Given the description of an element on the screen output the (x, y) to click on. 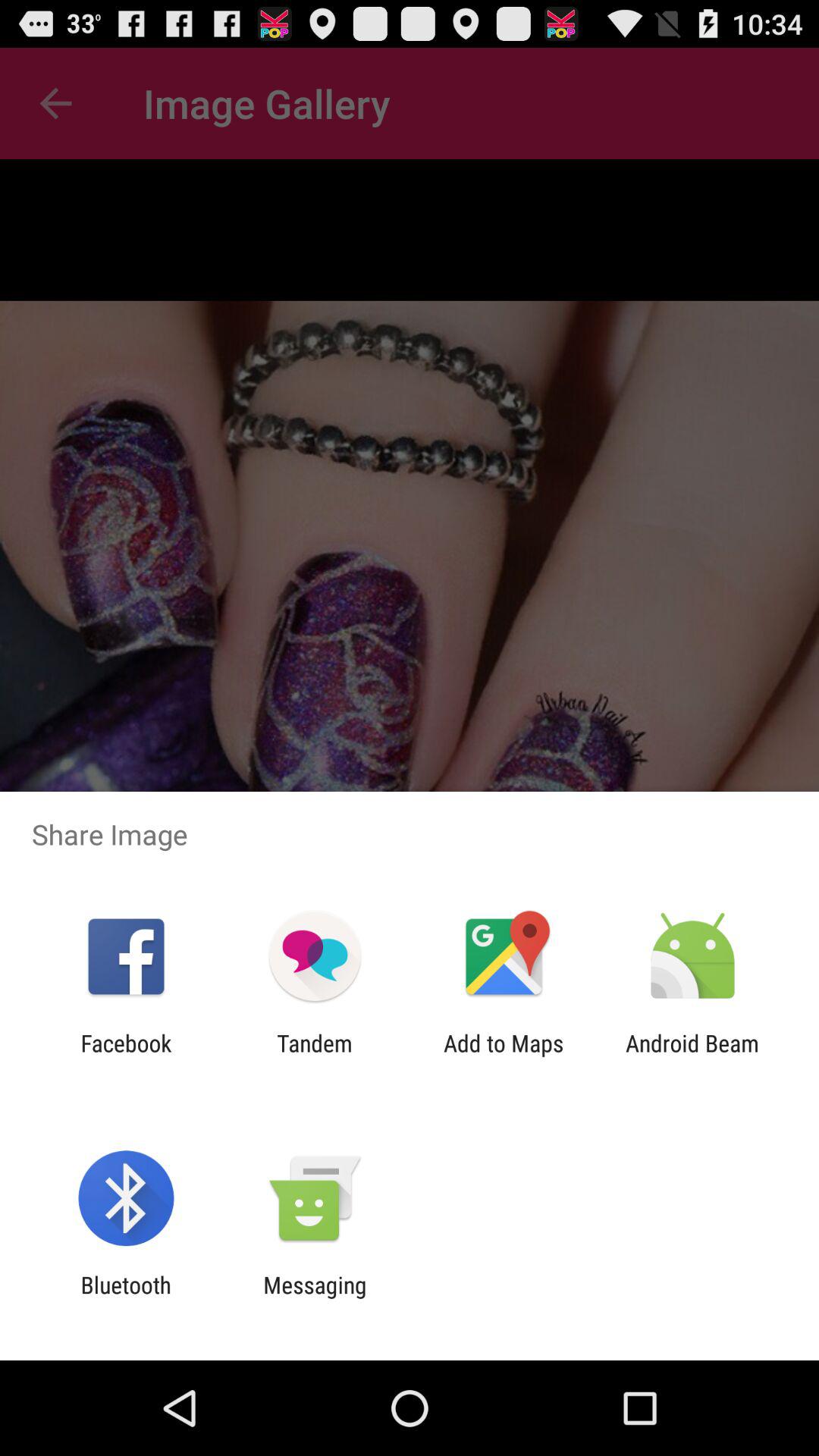
click add to maps app (503, 1056)
